Given the description of an element on the screen output the (x, y) to click on. 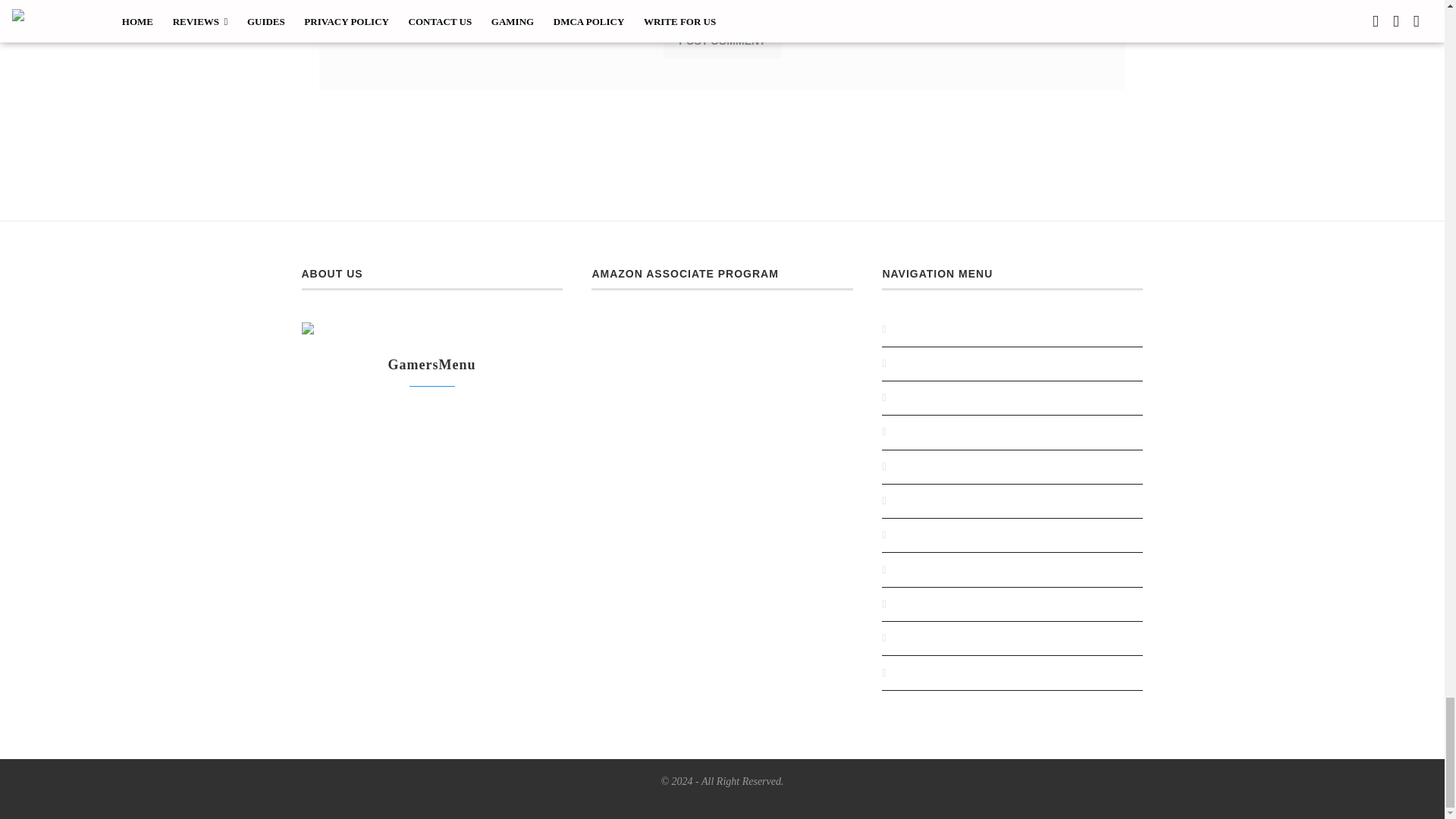
Post Comment (721, 40)
